Given the description of an element on the screen output the (x, y) to click on. 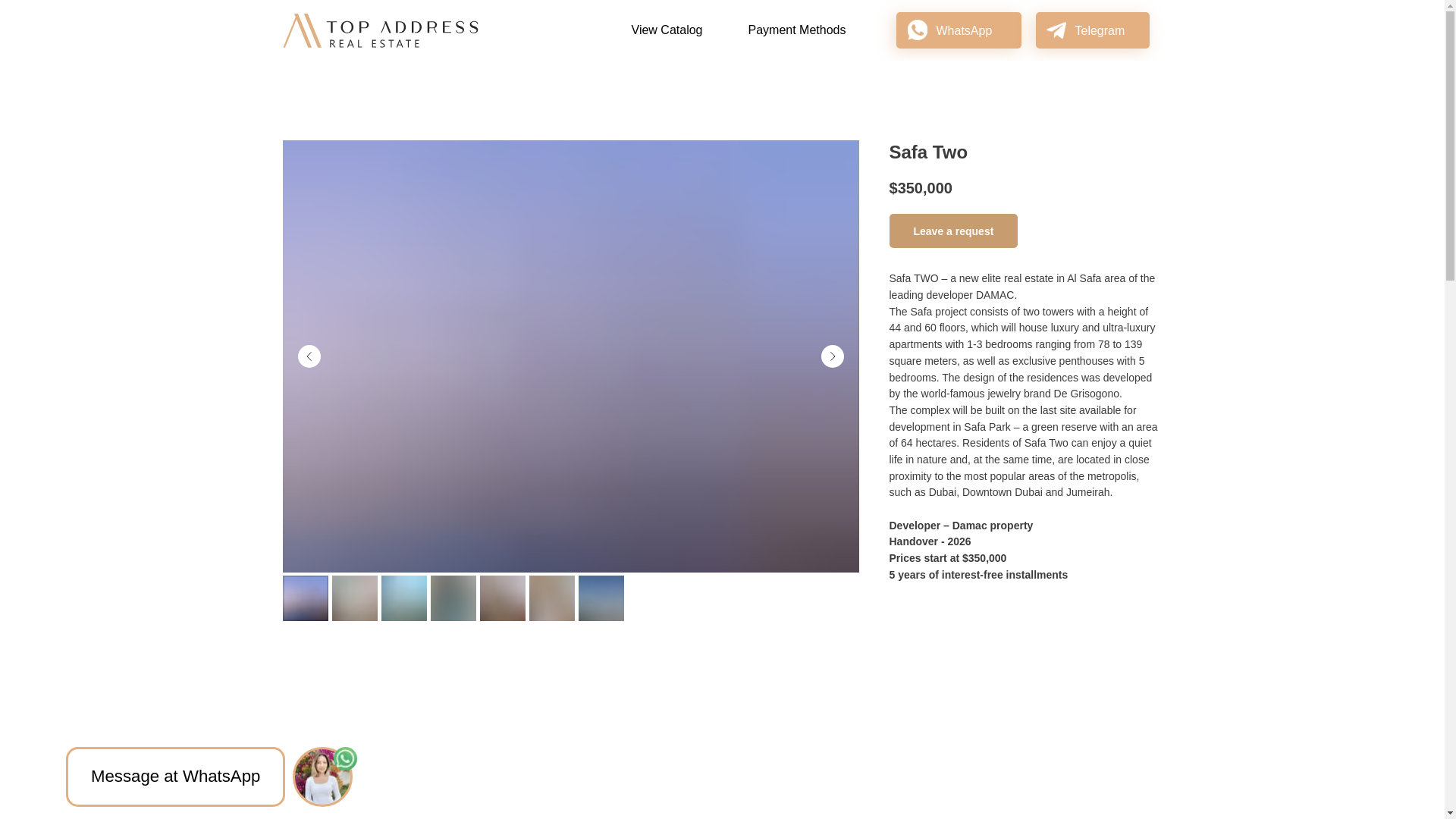
View Catalog (665, 29)
Payment Methods (796, 29)
Leave a request (952, 230)
WhatsApp (963, 30)
Telegram (1100, 30)
